Given the description of an element on the screen output the (x, y) to click on. 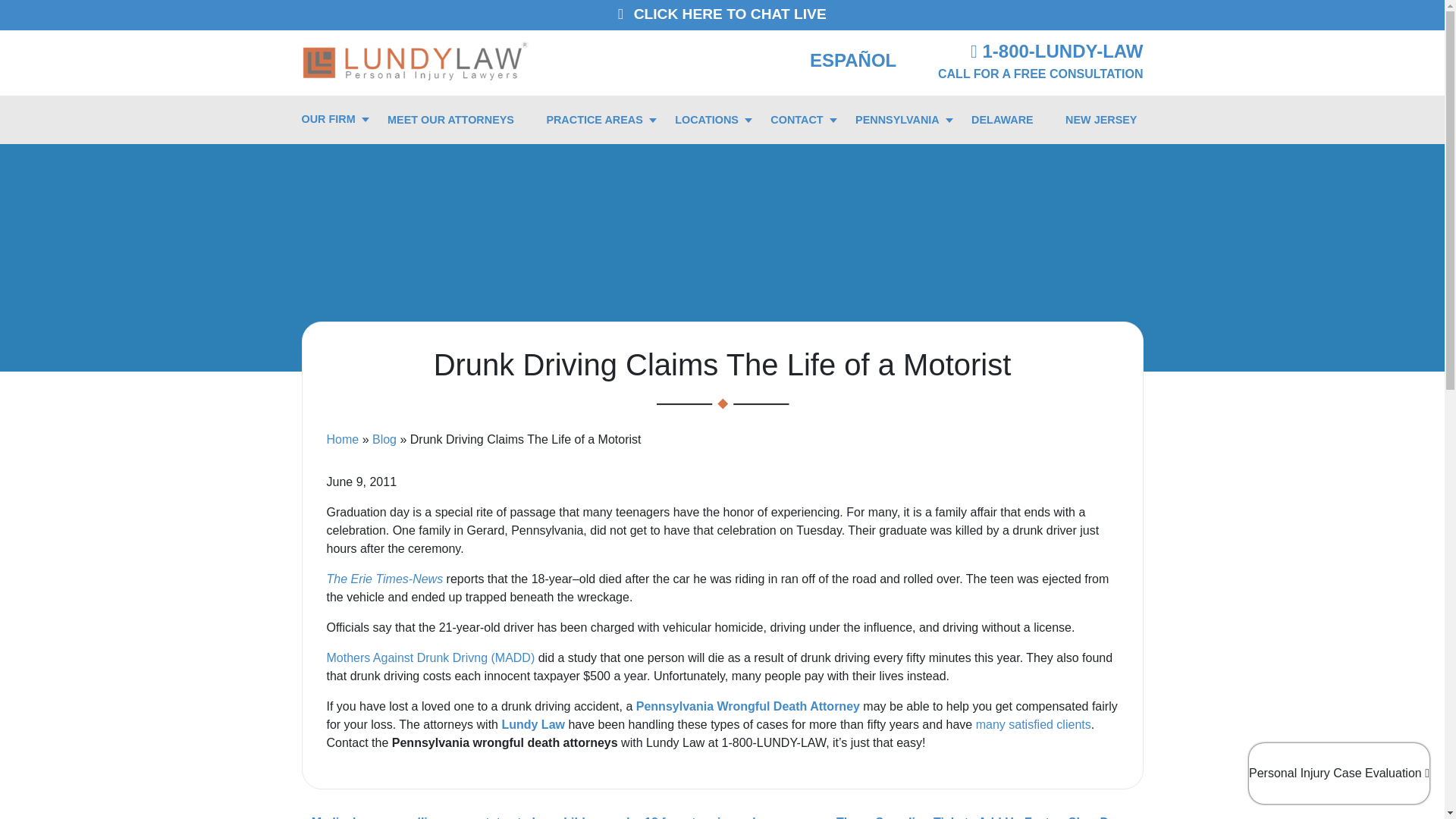
home (415, 59)
Lundy Law Personal Injury Lawyers Logo (415, 60)
CALL FOR A FREE CONSULTATION (1039, 73)
1-800-LUNDY-LAW (1056, 50)
